Given the description of an element on the screen output the (x, y) to click on. 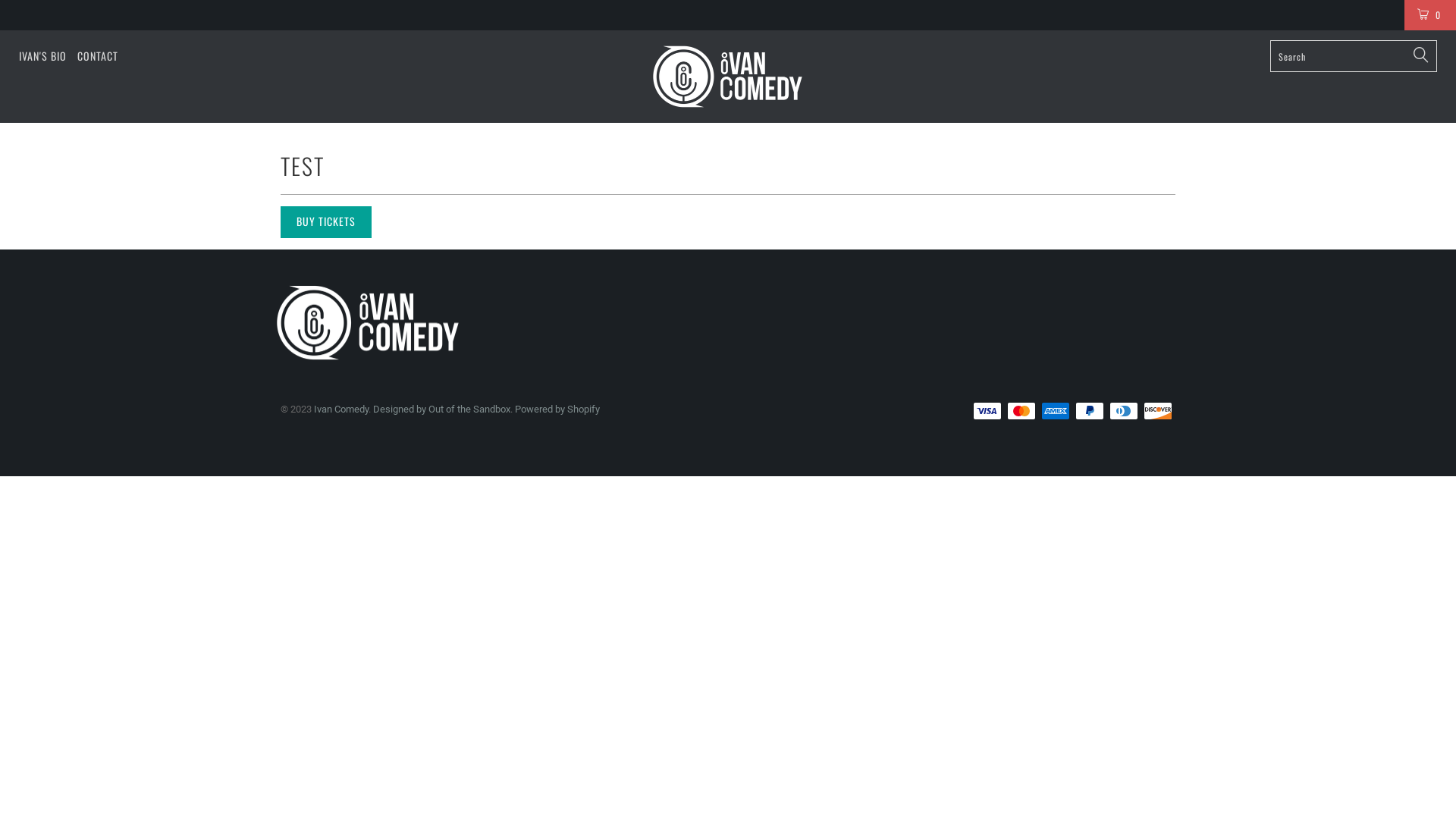
IVAN'S BIO Element type: text (42, 56)
Ivan Comedy Element type: text (340, 408)
BUY TICKETS Element type: text (325, 222)
Ivan Comedy Element type: hover (727, 76)
Designed by Out of the Sandbox Element type: text (441, 408)
CONTACT Element type: text (97, 56)
Powered by Shopify Element type: text (556, 408)
